Given the description of an element on the screen output the (x, y) to click on. 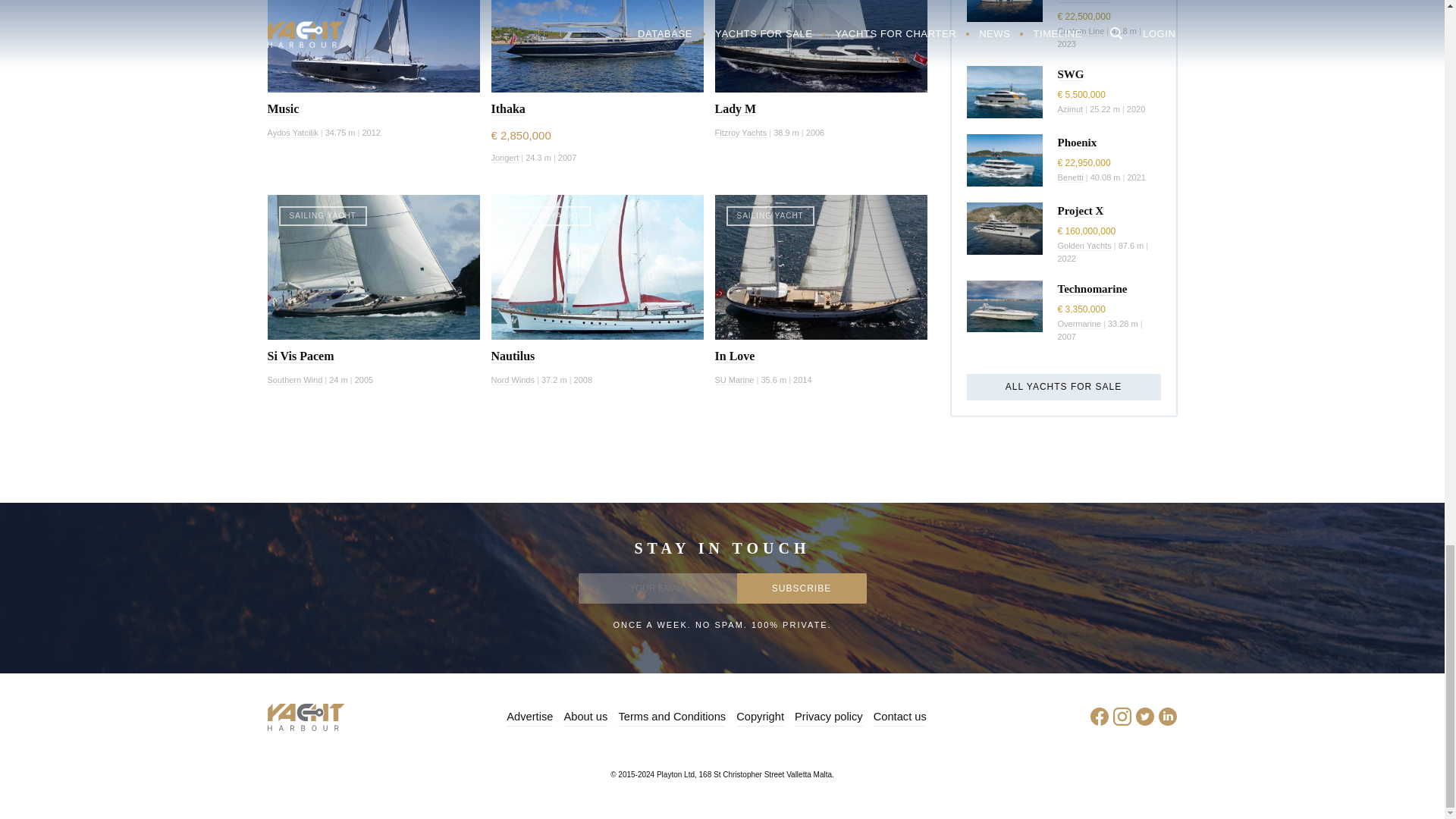
Lady M (734, 109)
Jongert (505, 157)
Si Vis Pacem (299, 356)
Southern Wind (293, 379)
Music (282, 109)
Ithaka (508, 109)
Subscribe (801, 588)
Fitzroy Yachts (740, 132)
Aydos Yatcilik (291, 132)
